Given the description of an element on the screen output the (x, y) to click on. 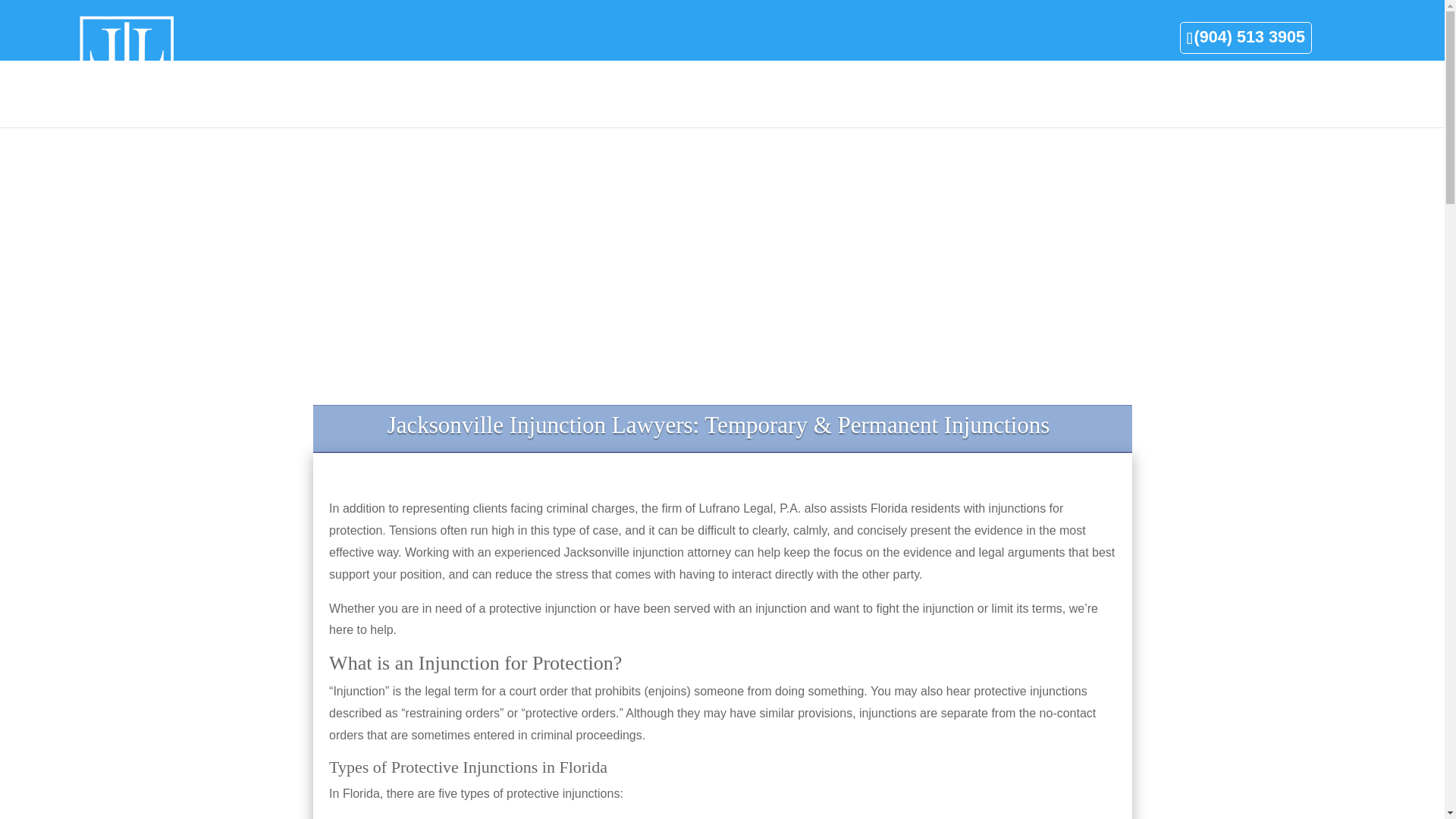
Contact (1293, 90)
Injunctions (962, 90)
About Us (1189, 90)
Criminal Defense (858, 90)
